Given the description of an element on the screen output the (x, y) to click on. 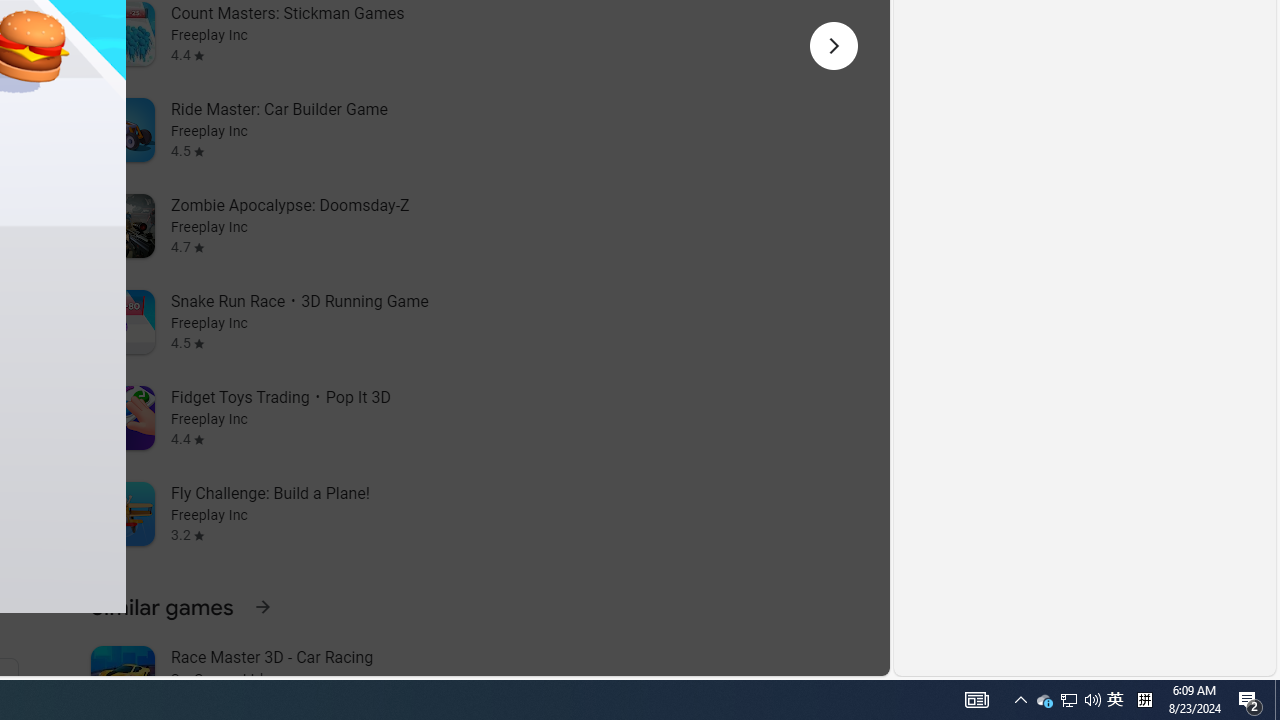
Next (833, 45)
See more information on Similar games (262, 606)
